Given the description of an element on the screen output the (x, y) to click on. 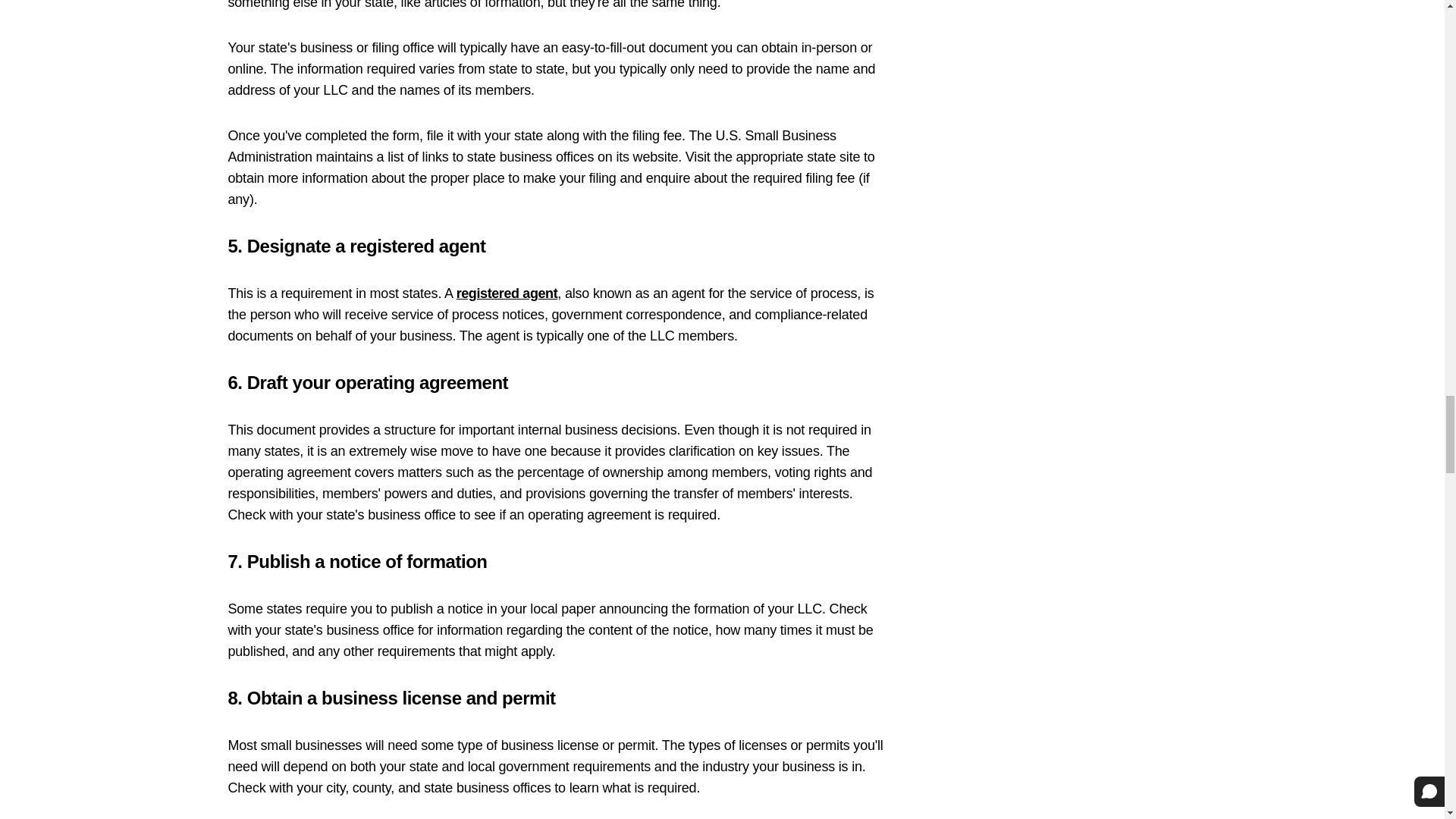
registered agent (507, 293)
